Given the description of an element on the screen output the (x, y) to click on. 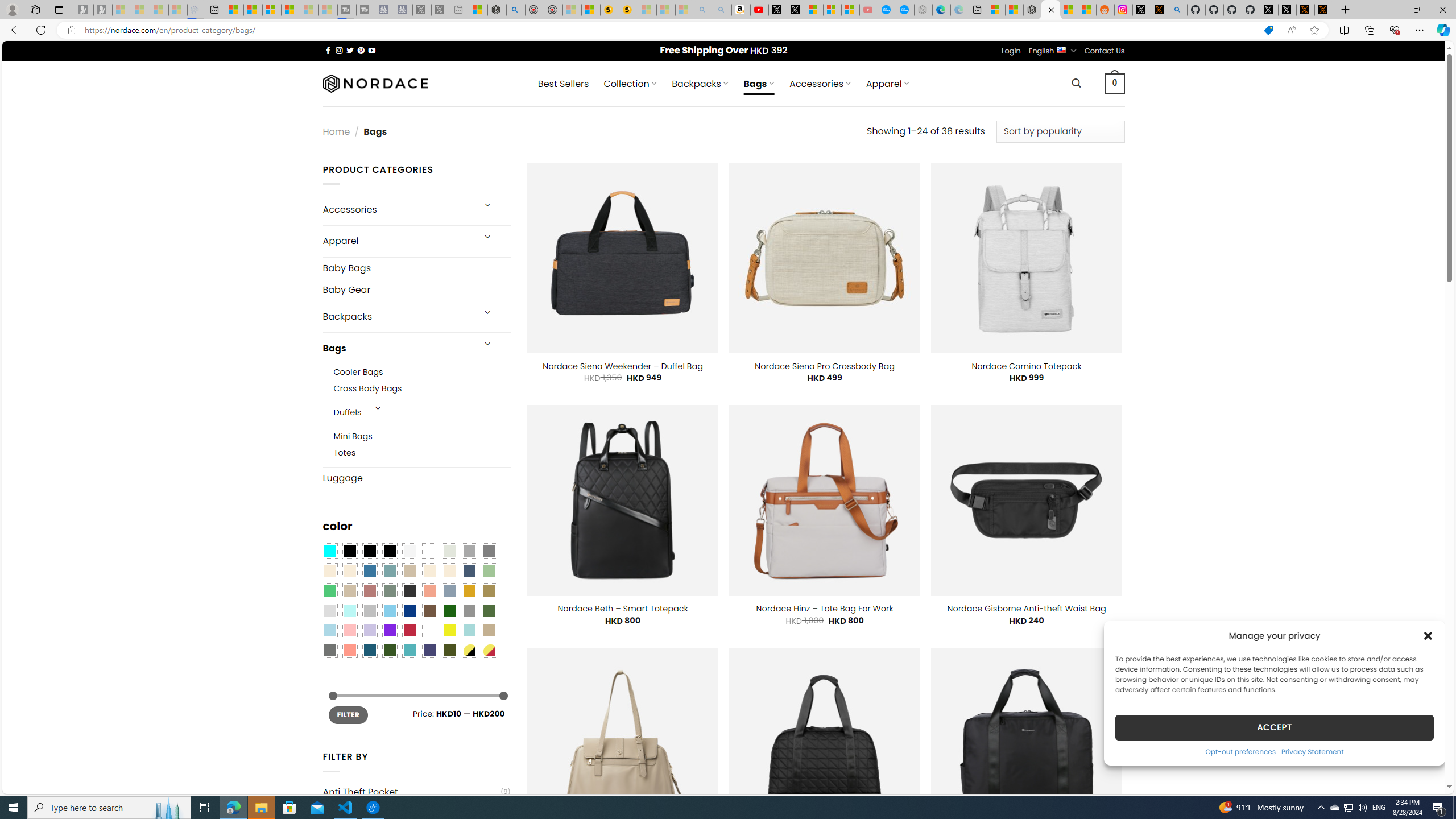
Coral (429, 590)
X - Sleeping (440, 9)
Purple (389, 630)
Beige-Brown (349, 570)
Back (13, 29)
Gray (468, 610)
Black-Brown (389, 550)
Luggage (416, 477)
Cooler Bags (357, 371)
